Given the description of an element on the screen output the (x, y) to click on. 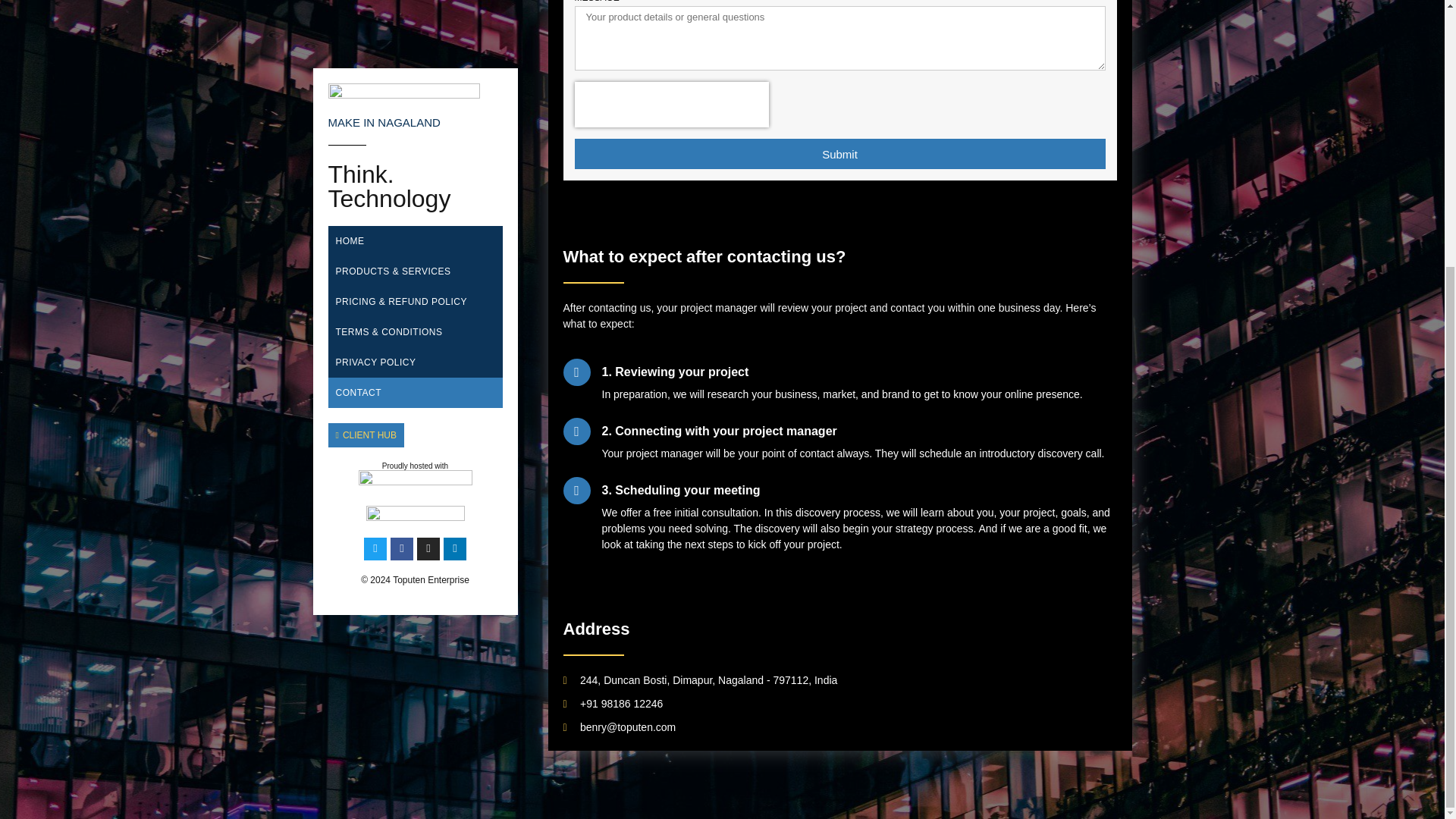
CLIENT HUB (365, 48)
Proudly hosted with (414, 79)
CONTACT (414, 10)
reCAPTCHA (671, 104)
